Given the description of an element on the screen output the (x, y) to click on. 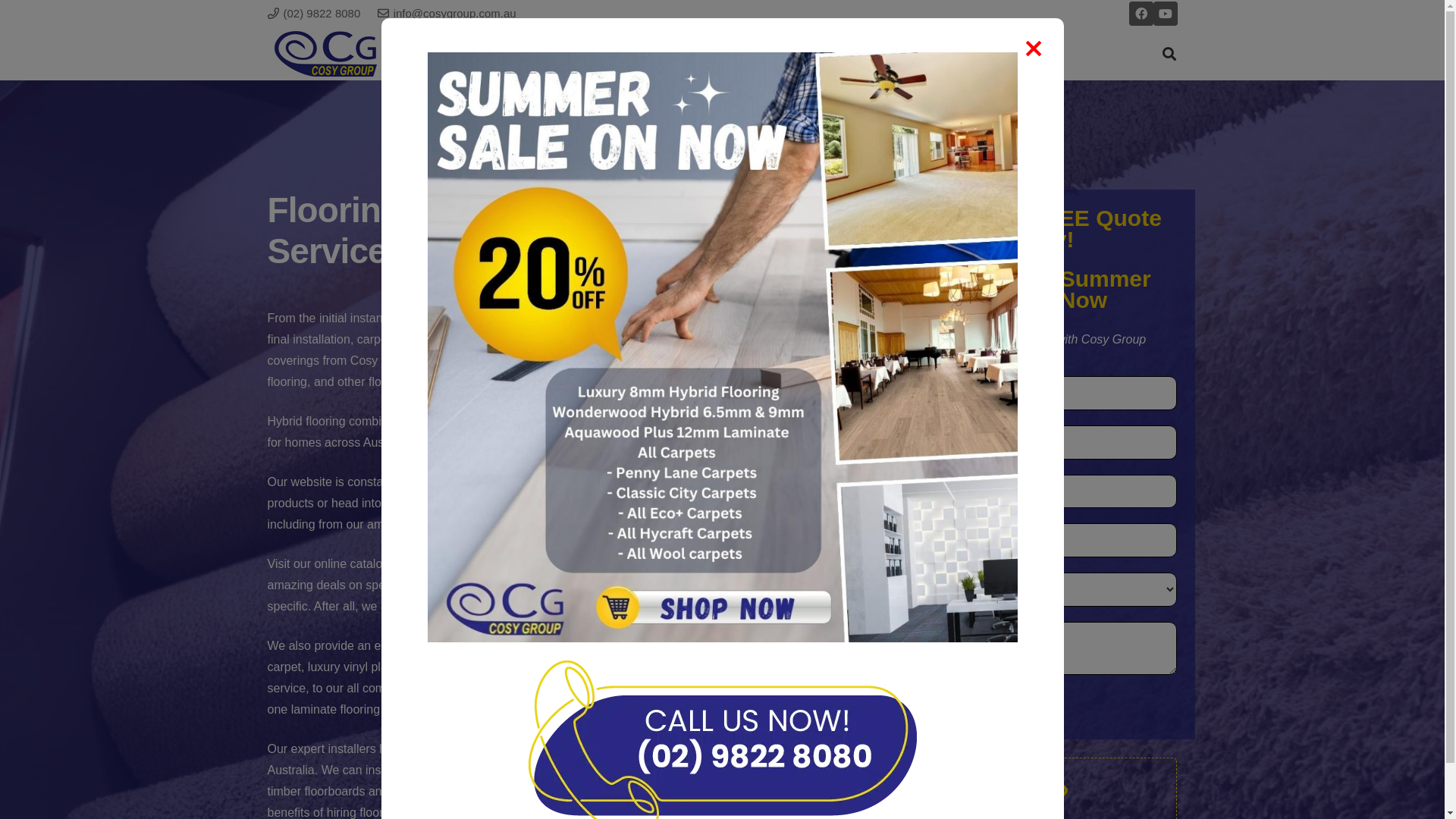
carpet tiles Element type: text (691, 360)
flooring options if you own pets at home Element type: text (661, 790)
Home Element type: text (578, 53)
About Element type: text (644, 53)
YouTube Element type: hover (1164, 13)
Brands Element type: text (772, 53)
(02) 9822 8080 Element type: text (313, 12)
Contact Element type: text (1011, 53)
Projects Element type: text (848, 53)
carpets Element type: text (635, 360)
info@cosygroup.com.au Element type: text (446, 12)
hybrid flooring Element type: text (766, 360)
SUBMIT Element type: text (932, 705)
Products Element type: text (930, 53)
Facebook Element type: hover (1140, 13)
laminate flooring Element type: text (561, 371)
Blog Element type: text (706, 53)
